Given the description of an element on the screen output the (x, y) to click on. 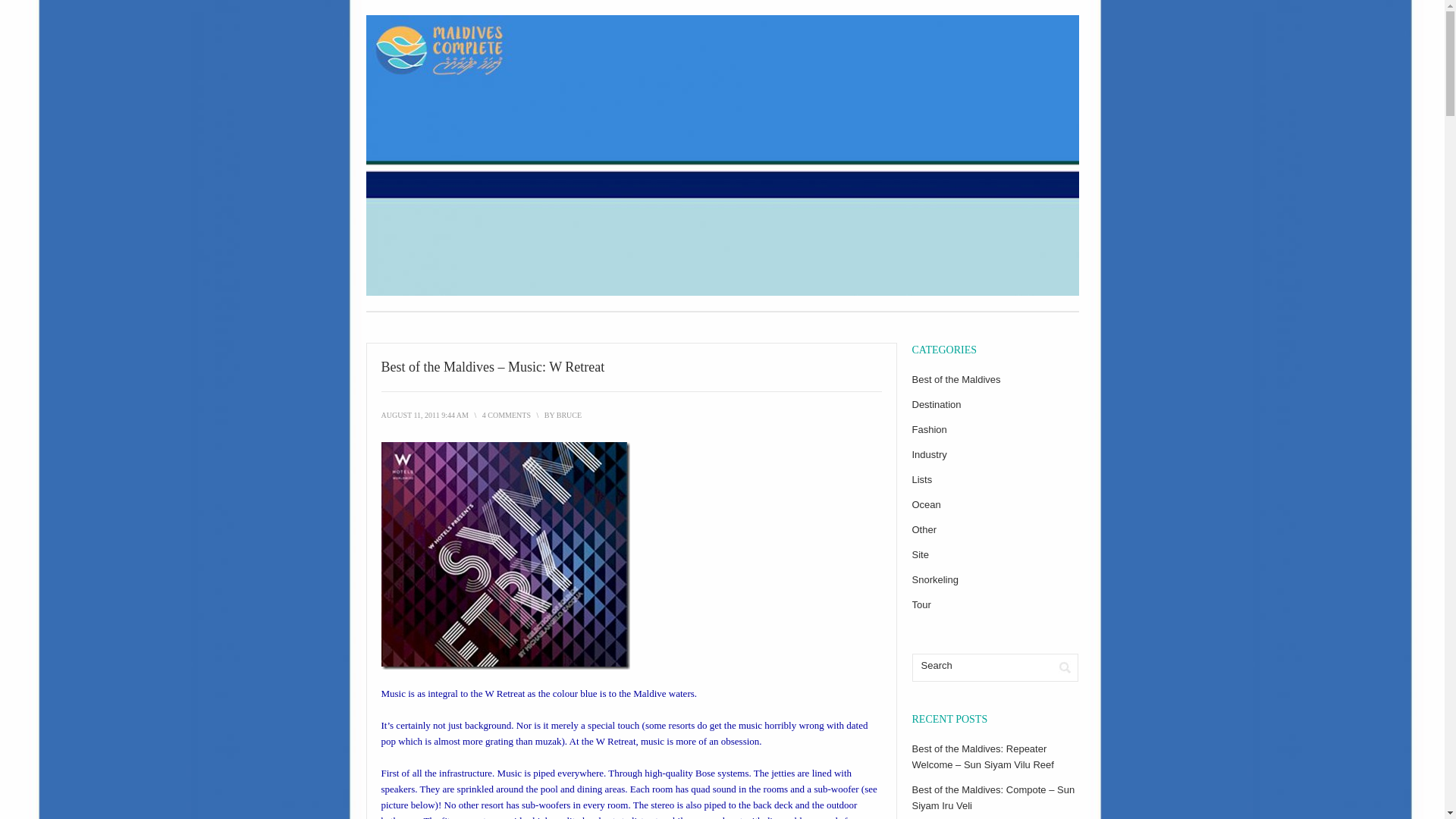
Lists (921, 479)
AUGUST 11, 2011 9:44 AM (423, 415)
Destination (935, 404)
Ocean (925, 504)
BRUCE (568, 415)
Snorkeling (934, 579)
4 COMMENTS (506, 415)
W Symetry CD (504, 555)
Search (1064, 667)
Other (923, 529)
Site (919, 554)
W Retreat (504, 693)
Fashion (928, 429)
Best of the Maldives (955, 378)
Search (980, 665)
